Given the description of an element on the screen output the (x, y) to click on. 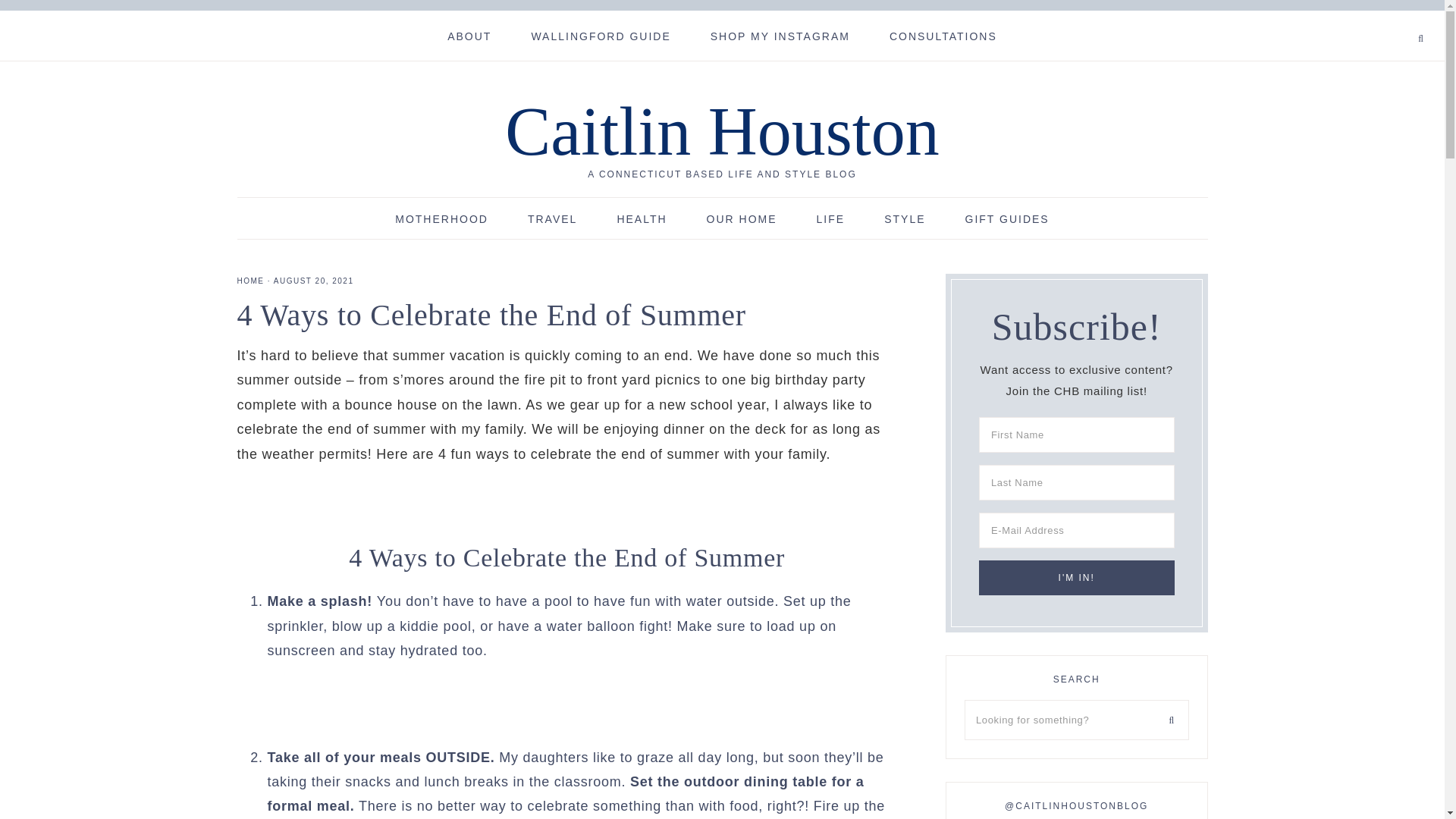
GIFT GUIDES (1006, 218)
SHOP MY INSTAGRAM (779, 34)
Caitlin Houston (722, 131)
OUR HOME (741, 218)
CONSULTATIONS (942, 34)
Pinterest (1388, 17)
HEALTH (640, 218)
Instagram (1394, 17)
HOME (249, 280)
STYLE (904, 218)
I'm in! (1076, 577)
WALLINGFORD GUIDE (600, 34)
Twitter (1382, 17)
Facebook (1375, 17)
LinkedIn (1400, 17)
